Given the description of an element on the screen output the (x, y) to click on. 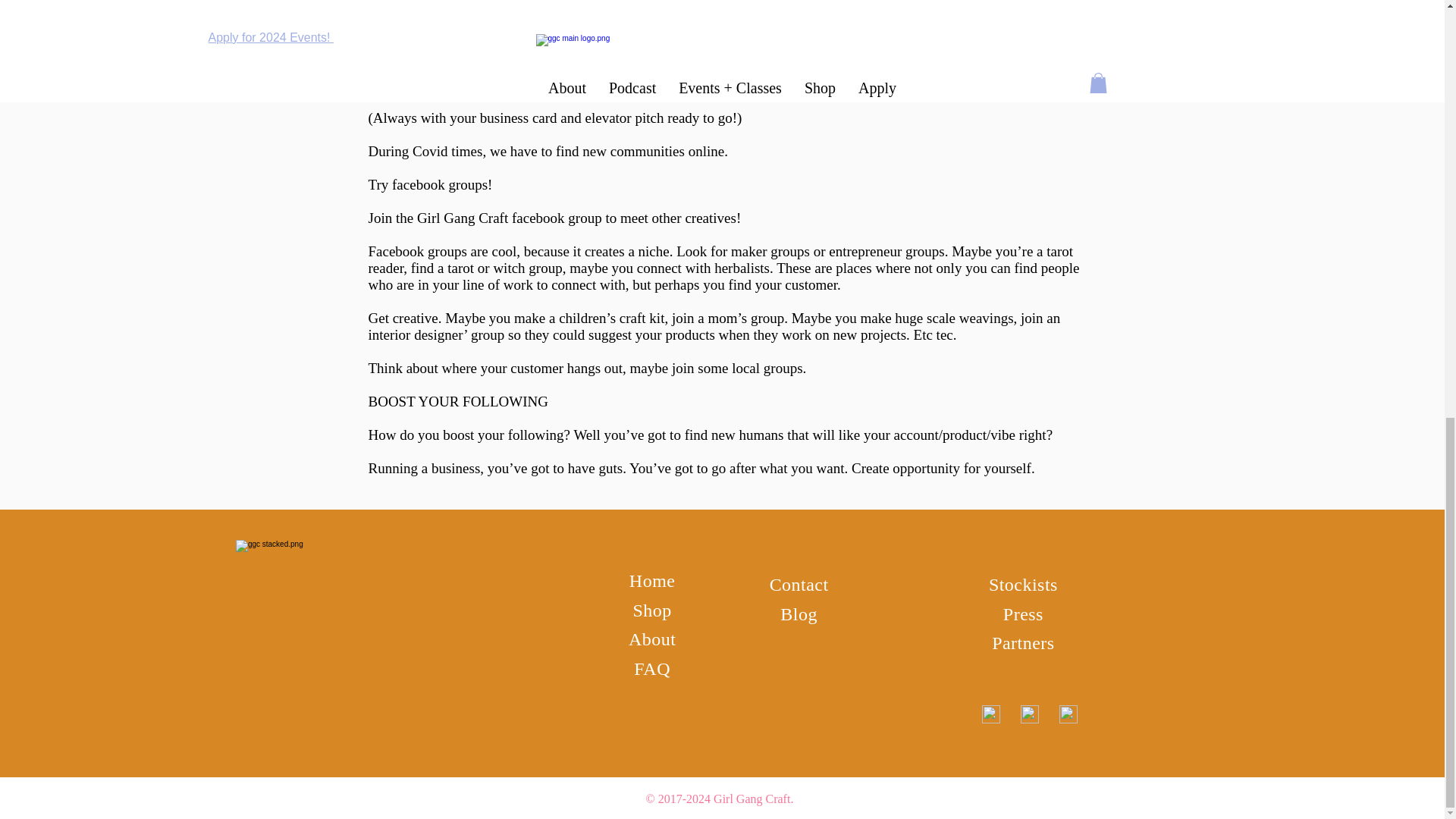
Partners (1022, 642)
Shop (651, 602)
Contact (799, 584)
About (651, 627)
FAQ (651, 668)
FAQ (651, 651)
About (651, 639)
Blog (798, 606)
Stockists (1023, 584)
Partners (1022, 630)
Blog (798, 614)
Contact (799, 581)
Stockists (1023, 581)
Press (1023, 614)
Shop (651, 609)
